Given the description of an element on the screen output the (x, y) to click on. 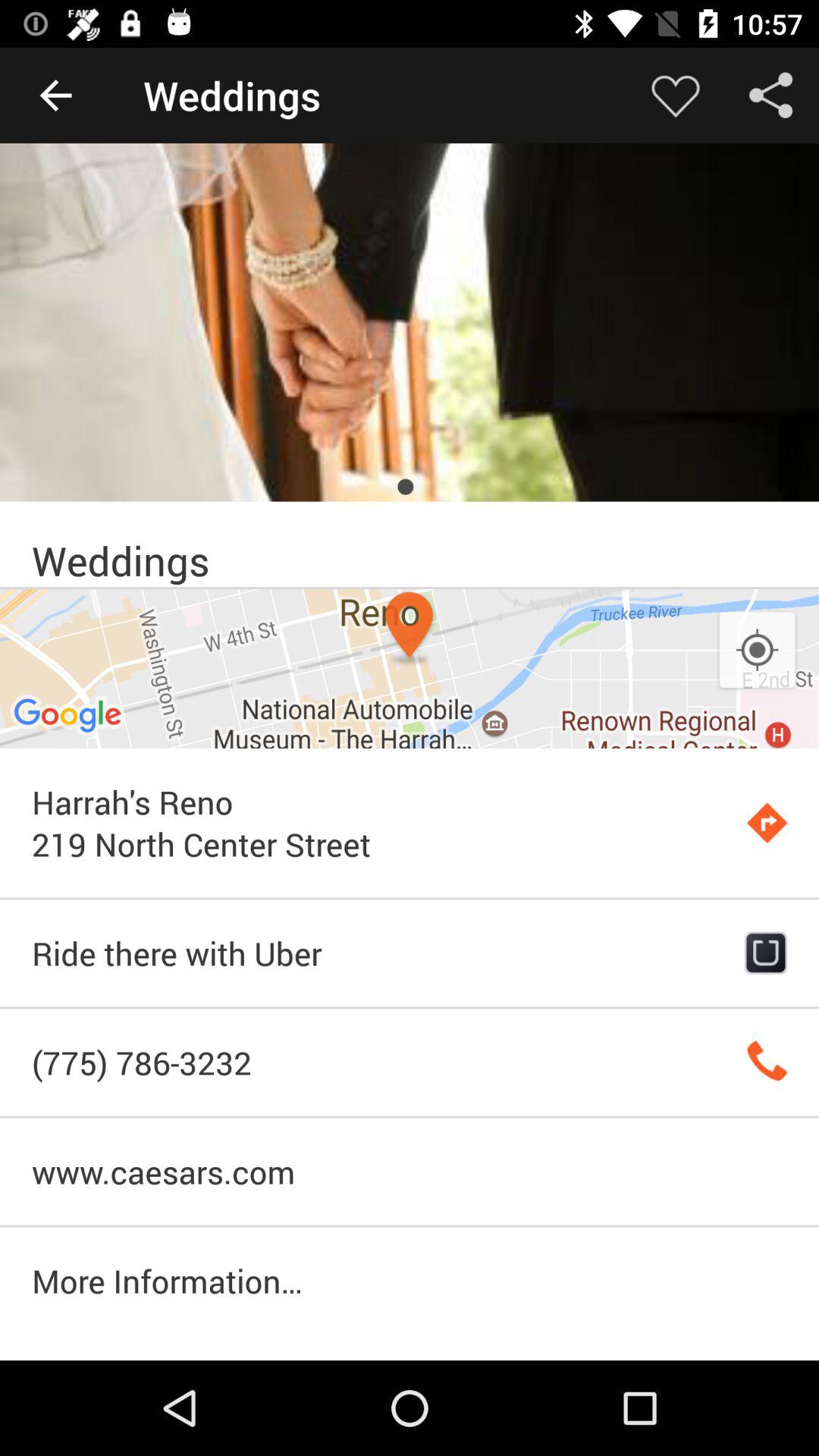
click icon to the left of weddings item (55, 95)
